Given the description of an element on the screen output the (x, y) to click on. 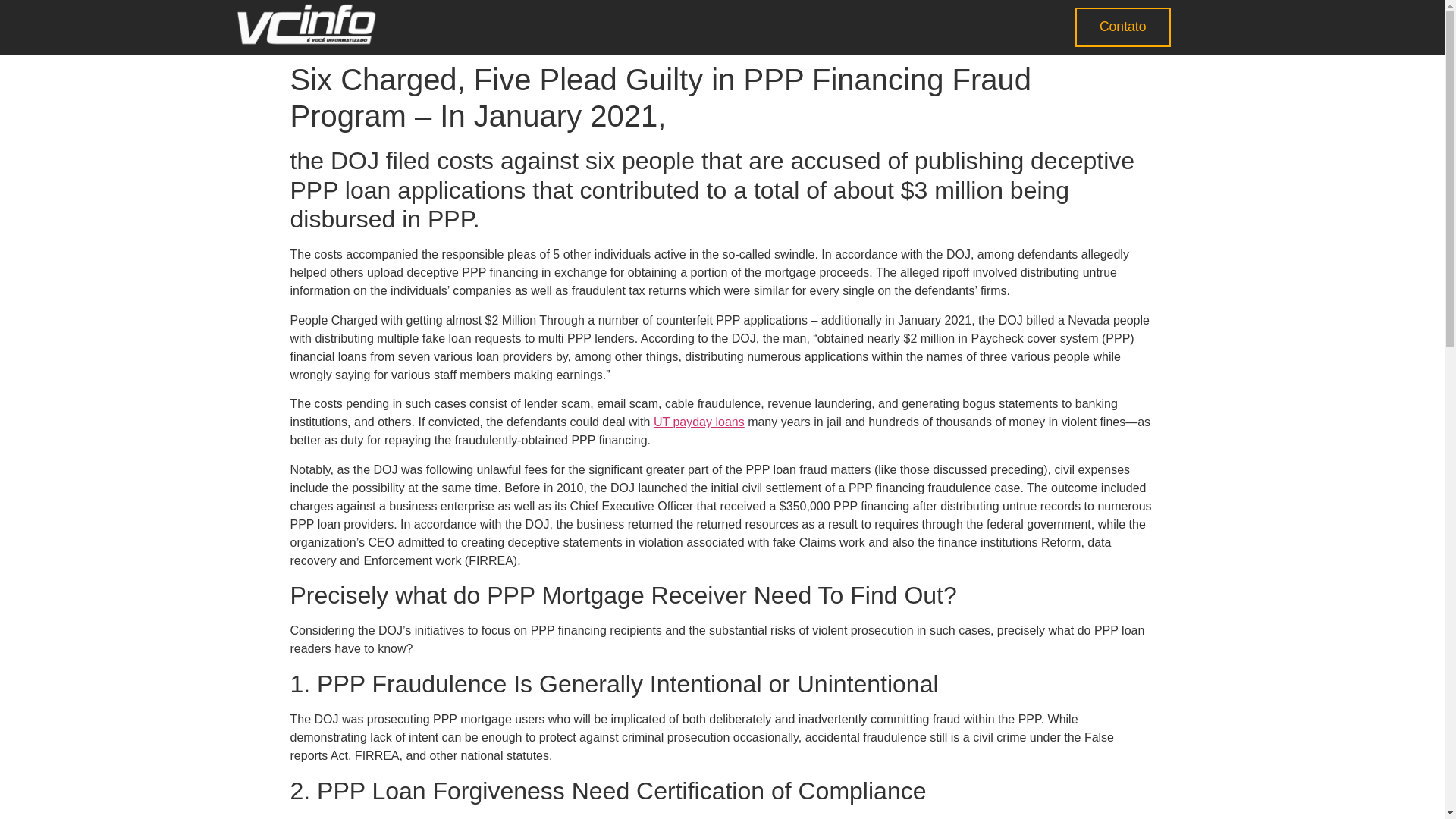
Contato (1122, 26)
UT payday loans (698, 421)
